Given the description of an element on the screen output the (x, y) to click on. 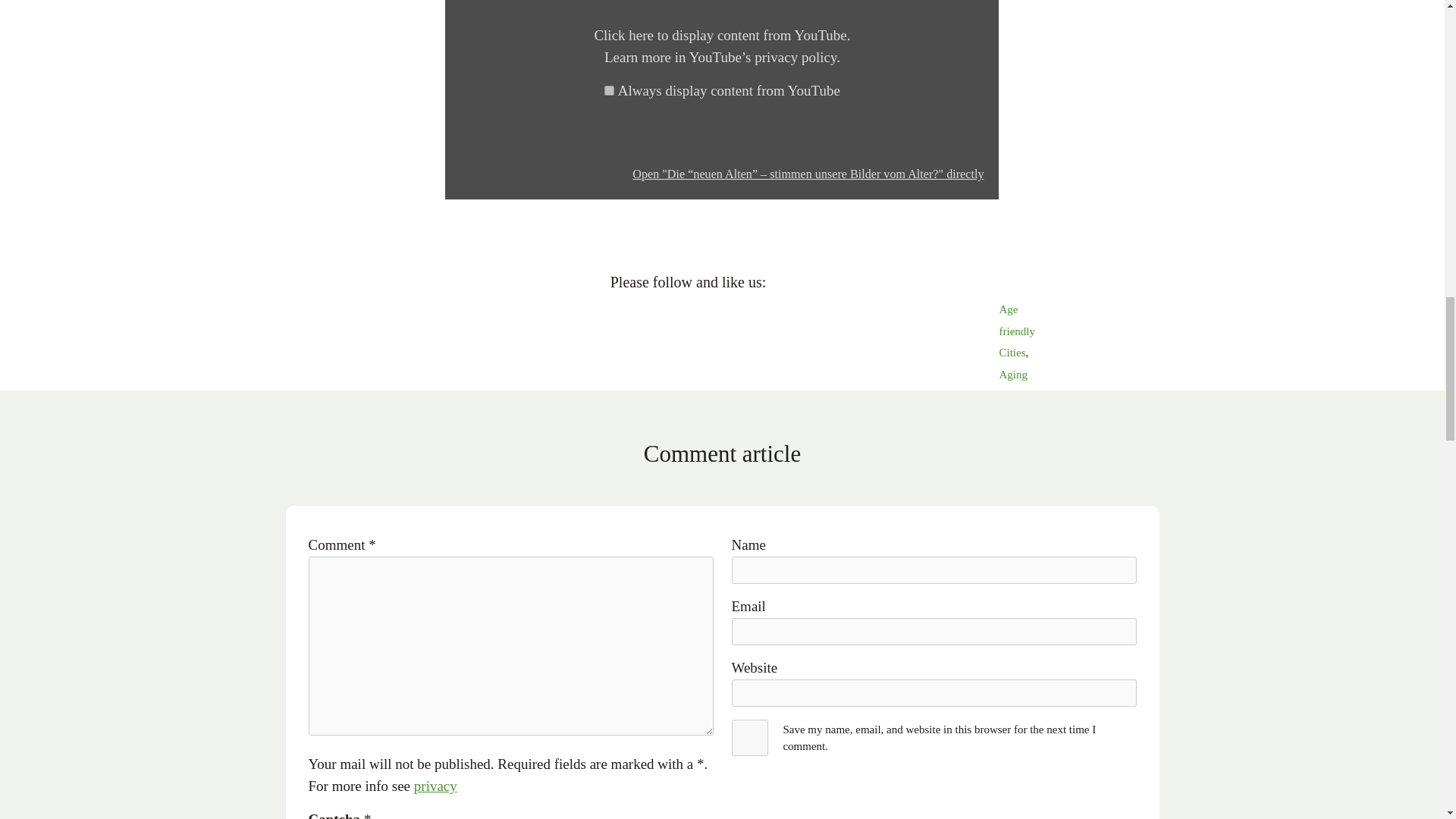
privacy policy (794, 57)
yes (749, 737)
1 (609, 90)
